Given the description of an element on the screen output the (x, y) to click on. 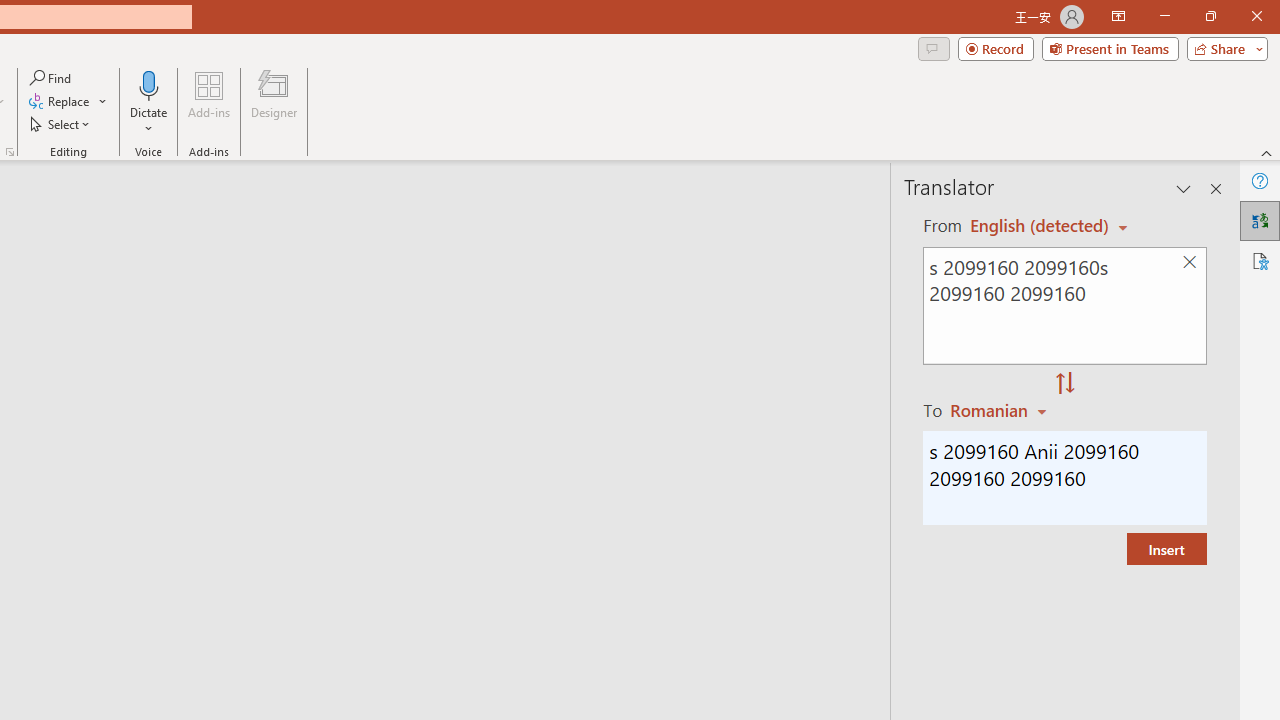
Czech (detected) (1039, 225)
Clear text (1189, 262)
